Given the description of an element on the screen output the (x, y) to click on. 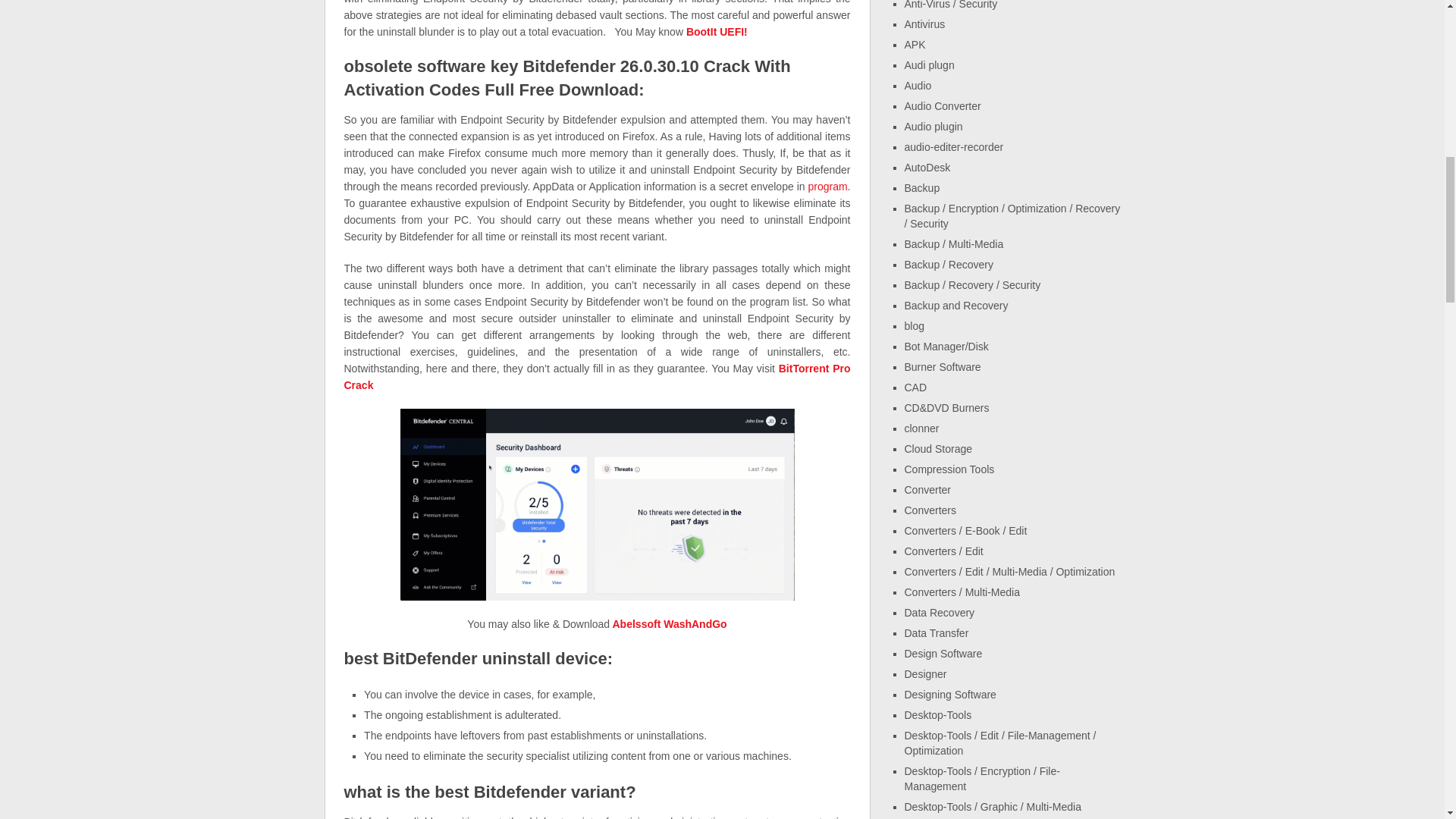
Abelssoft WashAndGo (668, 623)
BitTorrent Pro Crack (596, 376)
program (827, 186)
BootIt UEFI! (716, 31)
